Given the description of an element on the screen output the (x, y) to click on. 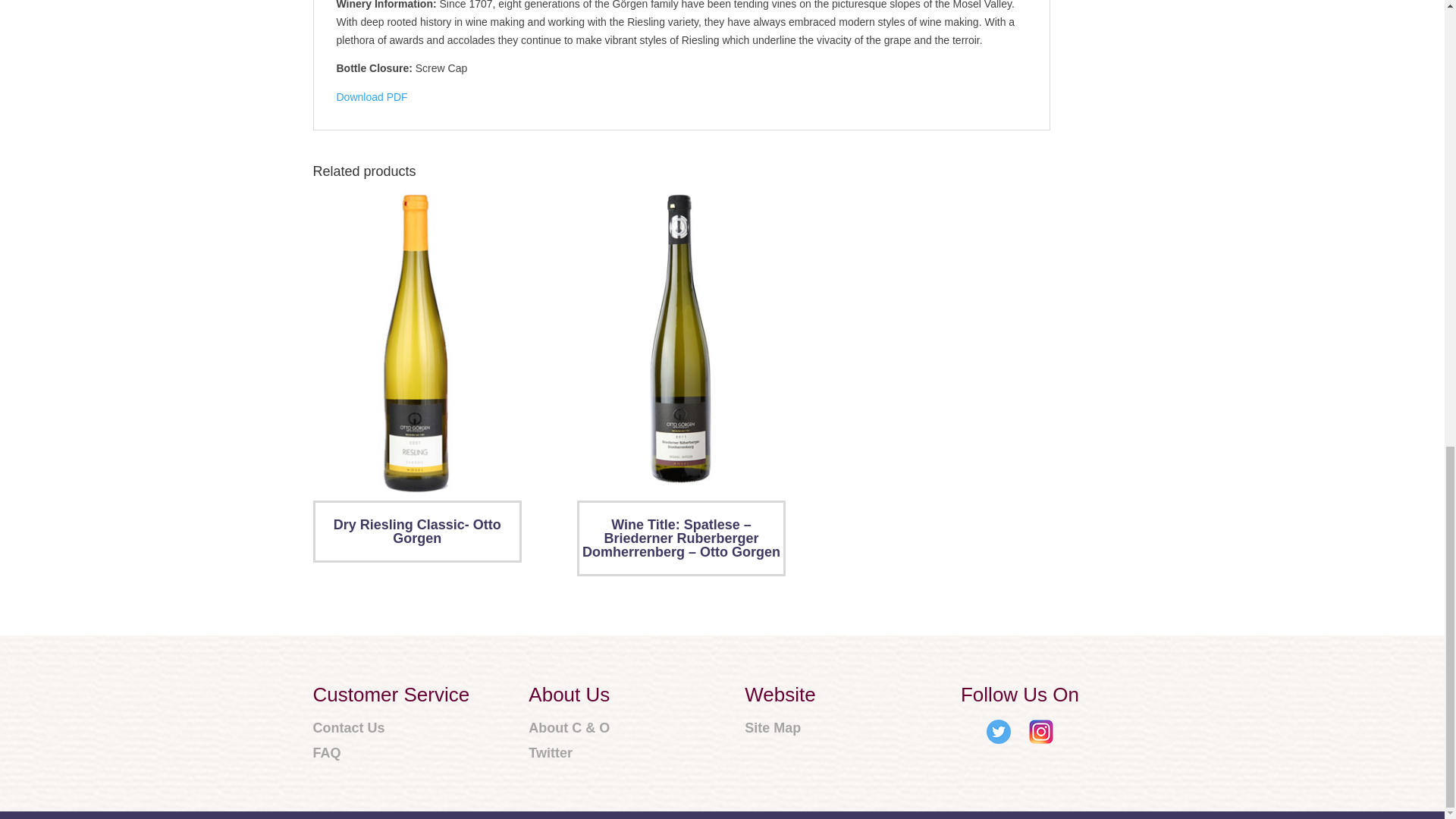
Download PDF (371, 96)
Contact Us (390, 728)
Site Map (779, 728)
Twitter (569, 753)
FAQ (390, 753)
